Given the description of an element on the screen output the (x, y) to click on. 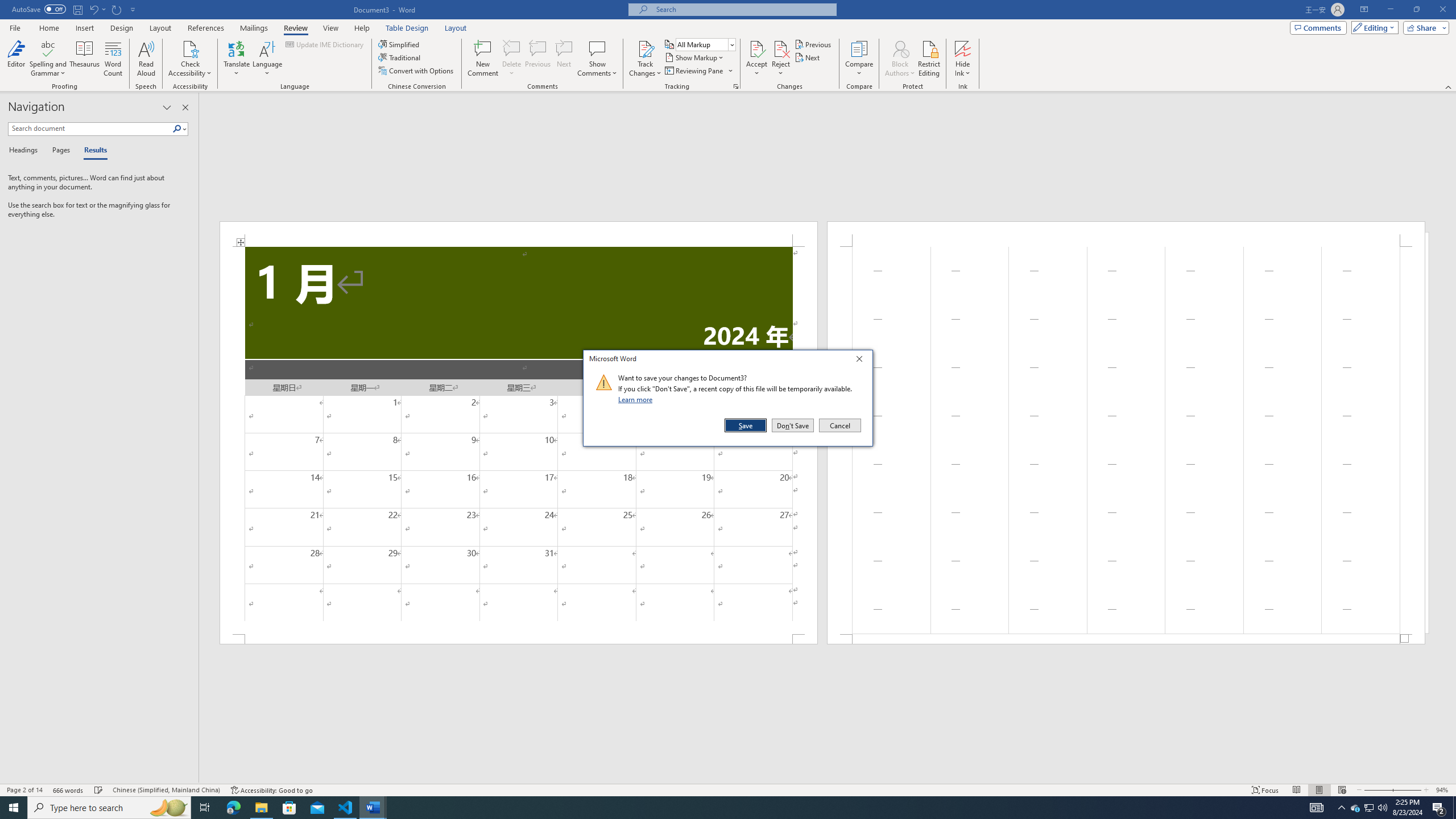
Visual Studio Code - 1 running window (345, 807)
Search document (89, 128)
Undo Apply Quick Style (96, 9)
AutoSave (38, 9)
Review (295, 28)
Restrict Editing (929, 58)
Notification Chevron (1341, 807)
Type here to search (108, 807)
Restore Down (1416, 9)
Quick Access Toolbar (74, 9)
Mailings (253, 28)
Next (808, 56)
